Given the description of an element on the screen output the (x, y) to click on. 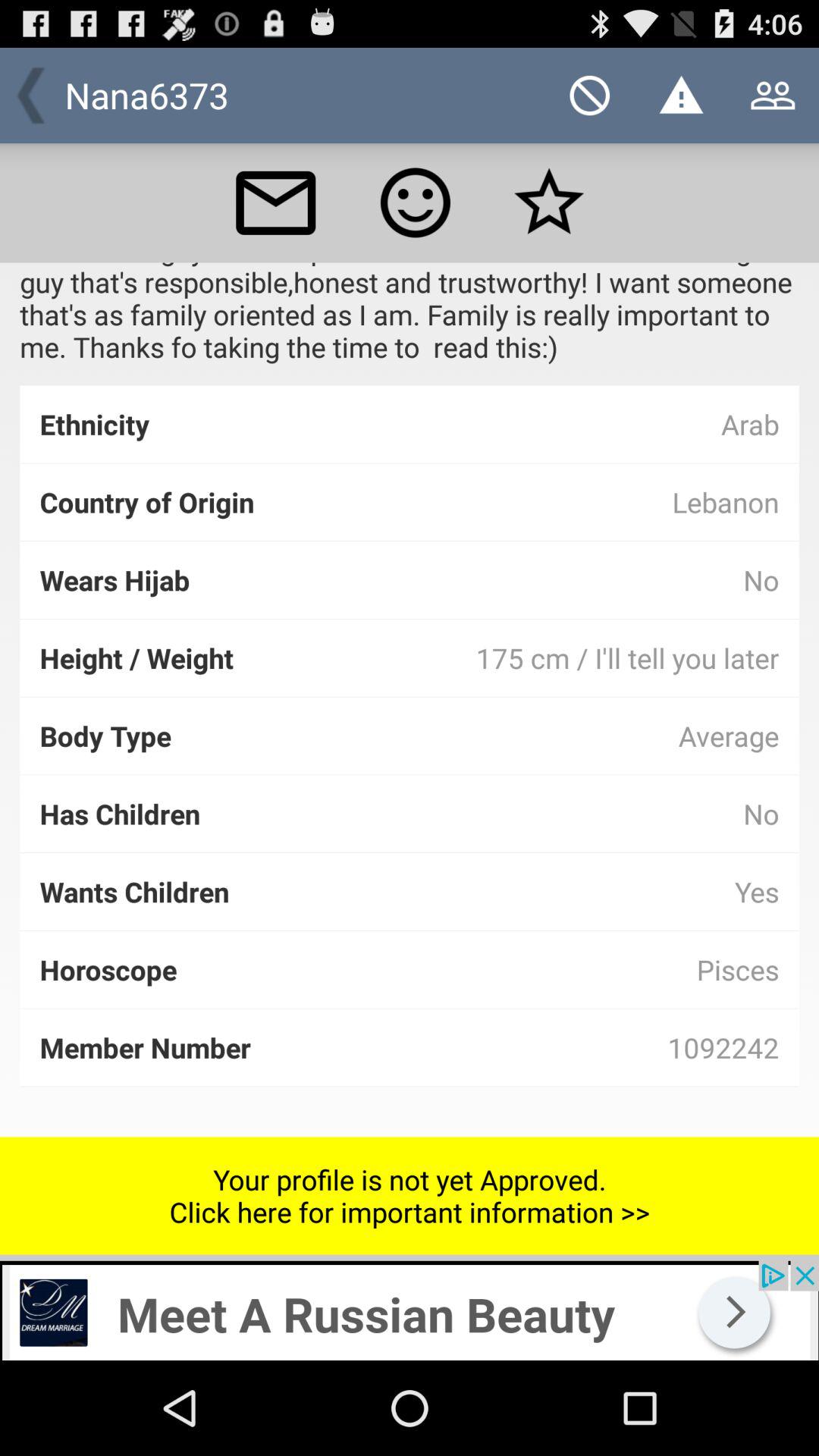
rating button (415, 202)
